Given the description of an element on the screen output the (x, y) to click on. 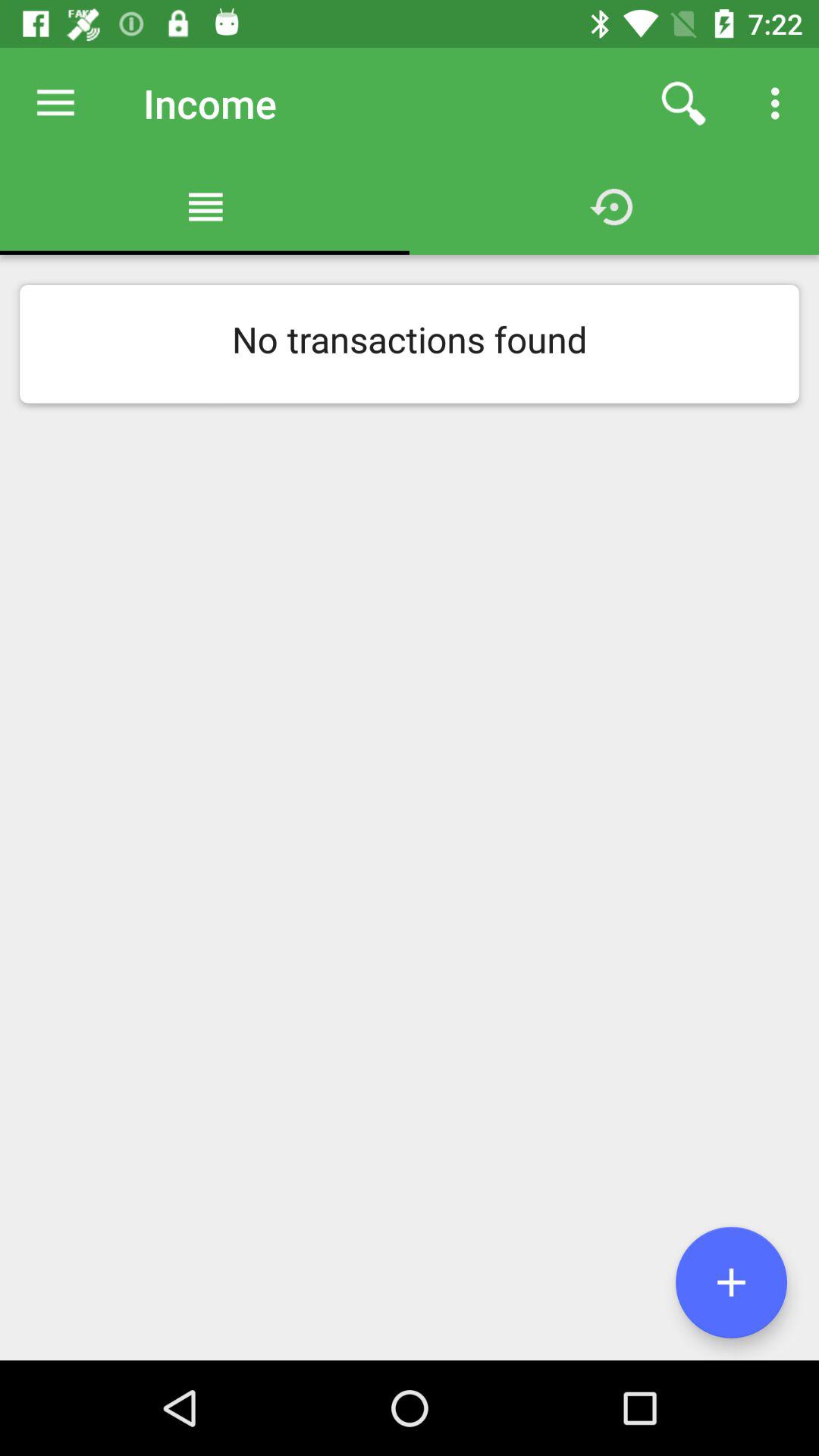
press the icon above no transactions found icon (779, 103)
